Given the description of an element on the screen output the (x, y) to click on. 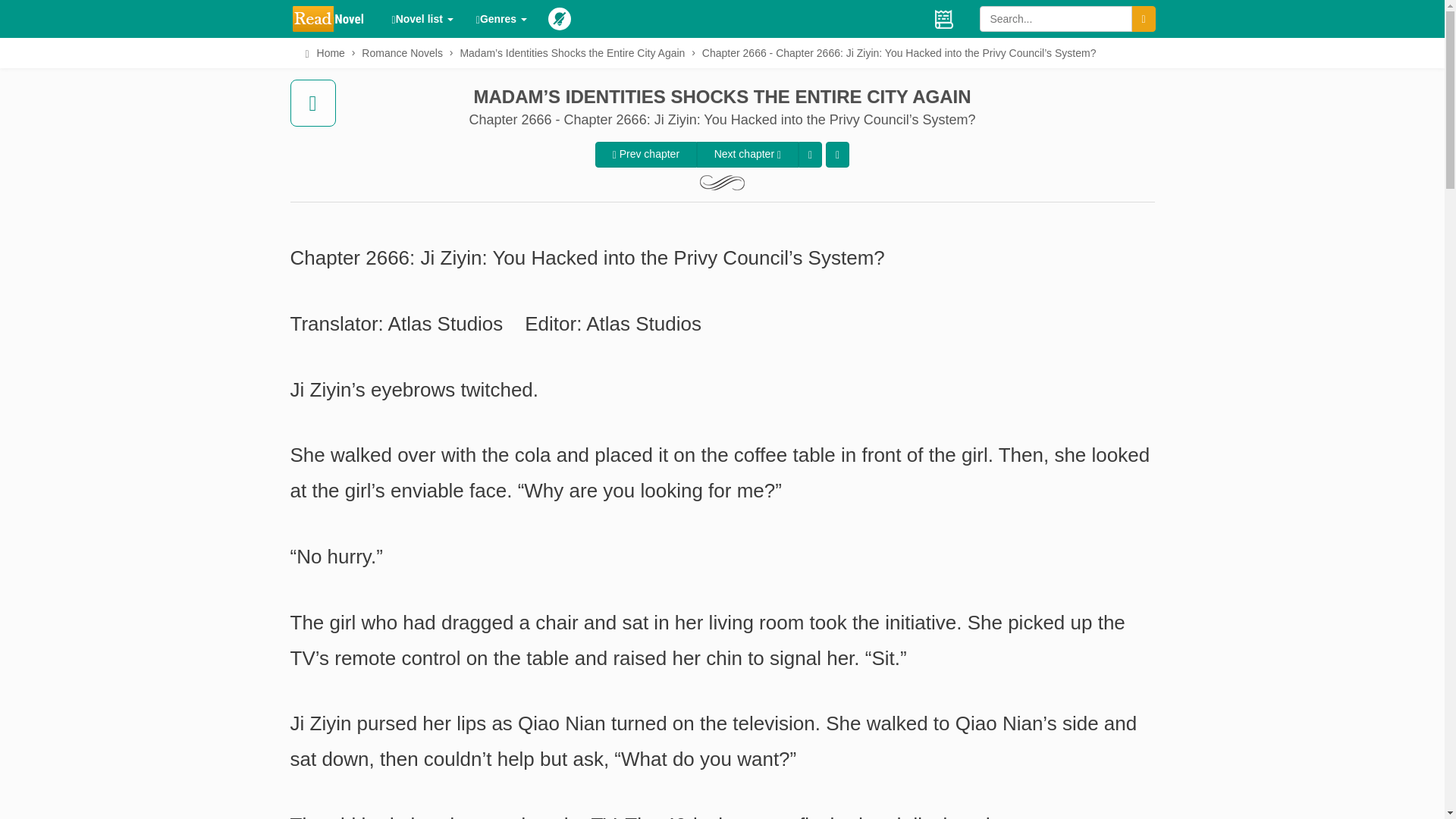
Genres (501, 18)
Novel list (422, 18)
Your Reading Novels (943, 18)
Read Novel (334, 18)
Dask mode (558, 18)
